Given the description of an element on the screen output the (x, y) to click on. 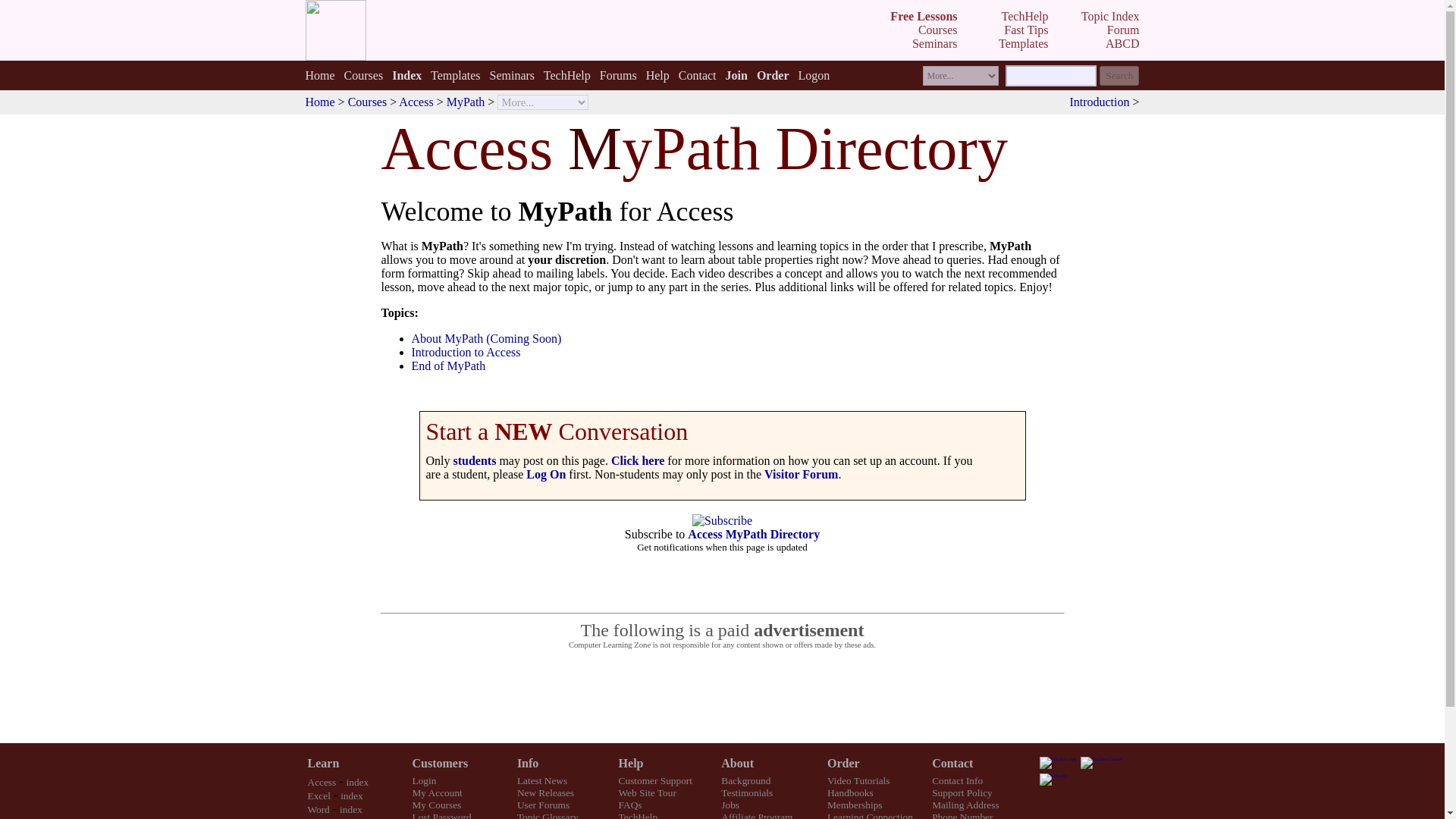
Search (1118, 75)
Log On (545, 473)
Forums (618, 74)
students (474, 460)
TechHelp (567, 74)
Courses (367, 101)
Courses (938, 29)
Access (321, 781)
index (357, 781)
Fast Tips (1026, 29)
